Given the description of an element on the screen output the (x, y) to click on. 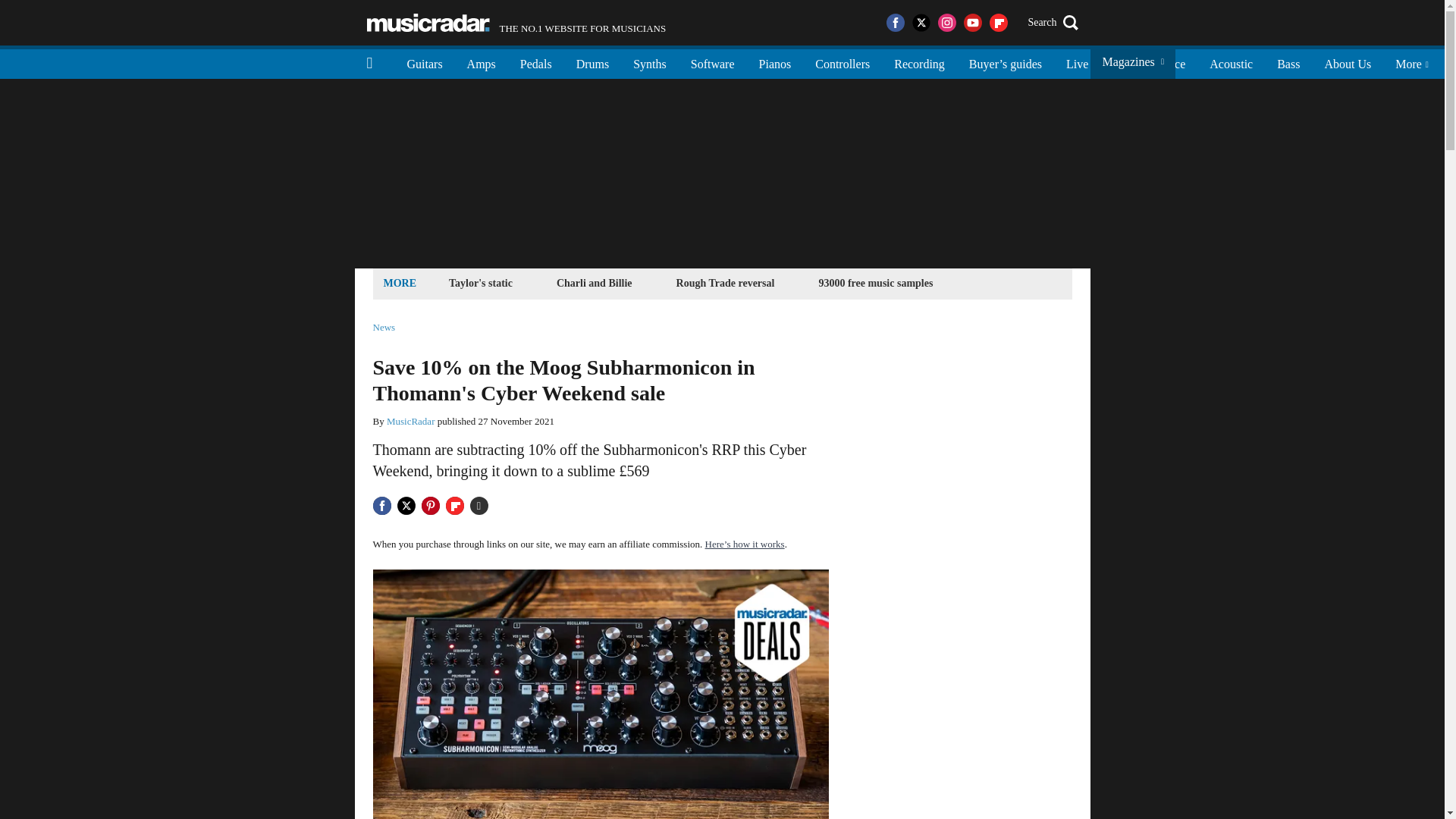
Bass (516, 22)
Acoustic (1288, 61)
Rough Trade reversal (1230, 61)
MusicRadar (725, 282)
Pianos (411, 420)
Advice (774, 61)
Recording (1167, 61)
93000 free music samples (919, 61)
Music Radar (874, 282)
